Given the description of an element on the screen output the (x, y) to click on. 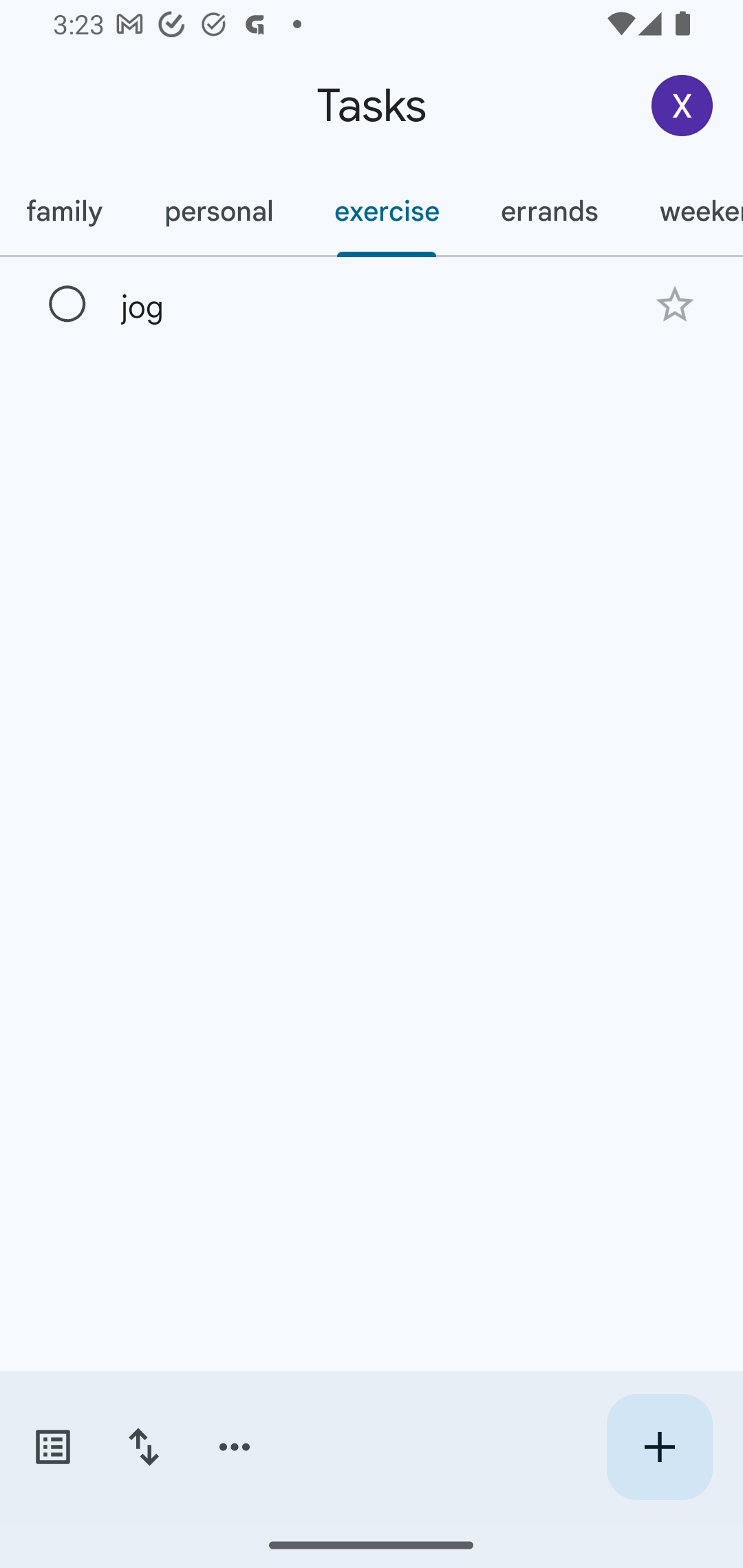
family (66, 211)
personal (218, 211)
errands (548, 211)
weekend (685, 211)
jog jog Add star Mark as complete (371, 303)
Add star (674, 303)
Mark as complete (67, 304)
Switch task lists (52, 1447)
Create new task (659, 1446)
Change sort order (143, 1446)
More options (234, 1446)
